Given the description of an element on the screen output the (x, y) to click on. 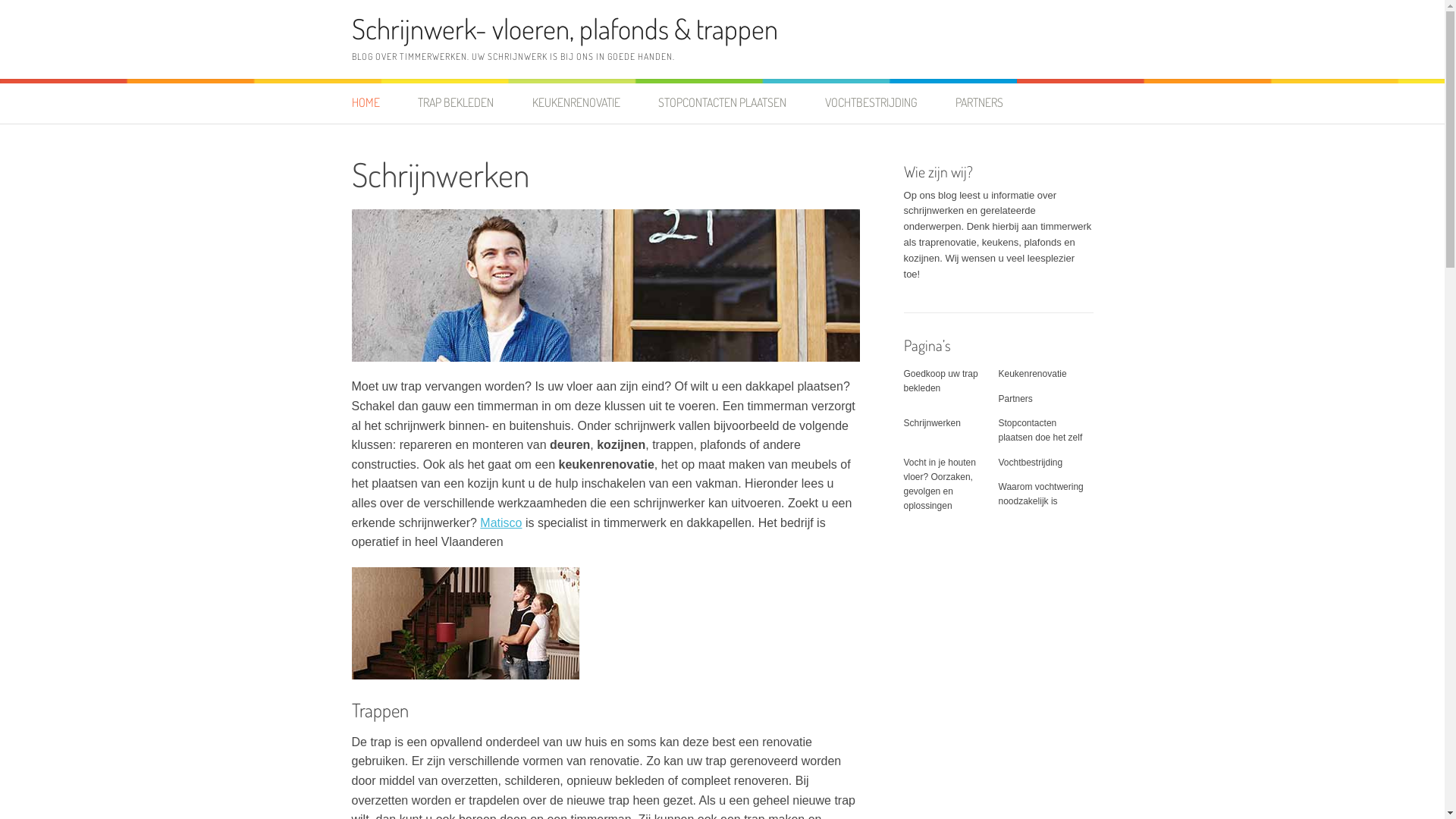
VOCHTBESTRIJDING Element type: text (871, 102)
Vochtbestrijding Element type: text (1029, 462)
Stopcontacten plaatsen doe het zelf Element type: text (1039, 429)
Waarom vochtwering noodzakelijk is Element type: text (1039, 493)
Schrijnwerk- vloeren, plafonds & trappen Element type: text (564, 28)
Vocht in je houten vloer? Oorzaken, gevolgen en oplossingen Element type: text (939, 484)
PARTNERS Element type: text (979, 102)
Schrijnwerken Element type: text (931, 422)
Keukenrenovatie Element type: text (1031, 373)
Goedkoop uw trap bekleden Element type: text (940, 380)
Partners Element type: text (1014, 398)
Matisco Element type: text (500, 522)
STOPCONTACTEN PLAATSEN Element type: text (721, 102)
HOME Element type: text (374, 102)
KEUKENRENOVATIE Element type: text (575, 102)
TRAP BEKLEDEN Element type: text (455, 102)
